Given the description of an element on the screen output the (x, y) to click on. 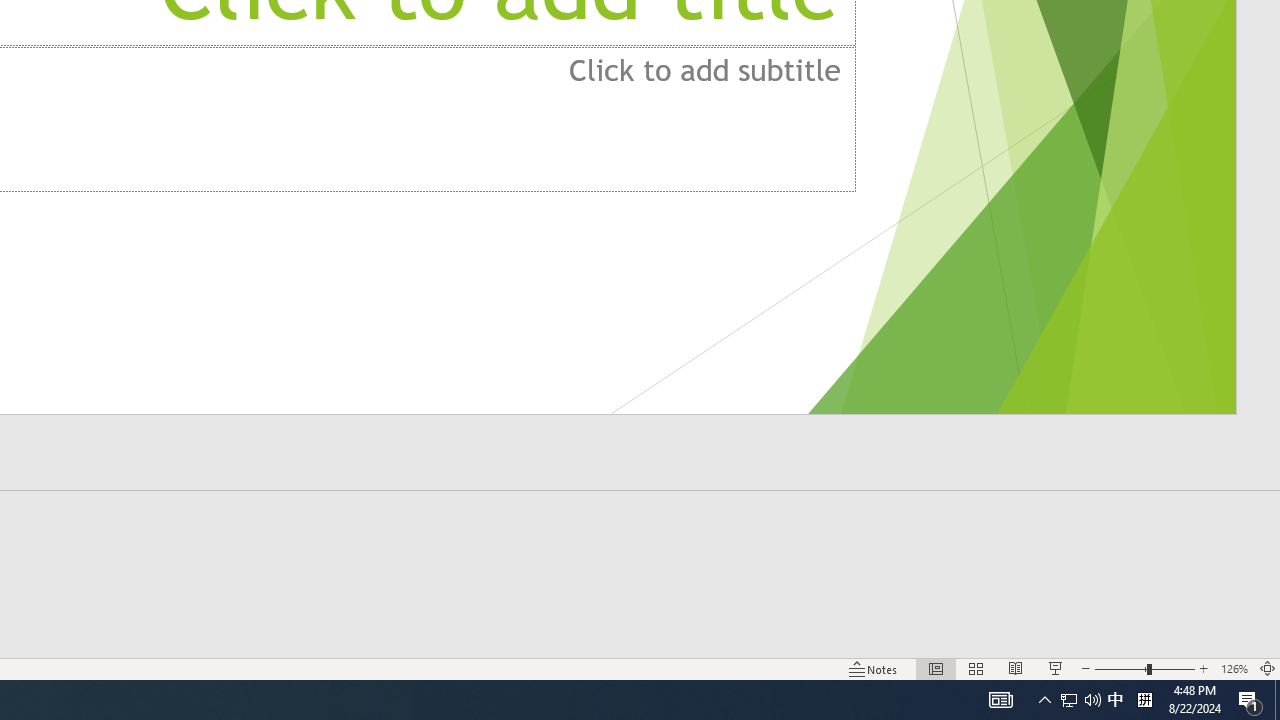
Zoom 126% (1234, 668)
